Given the description of an element on the screen output the (x, y) to click on. 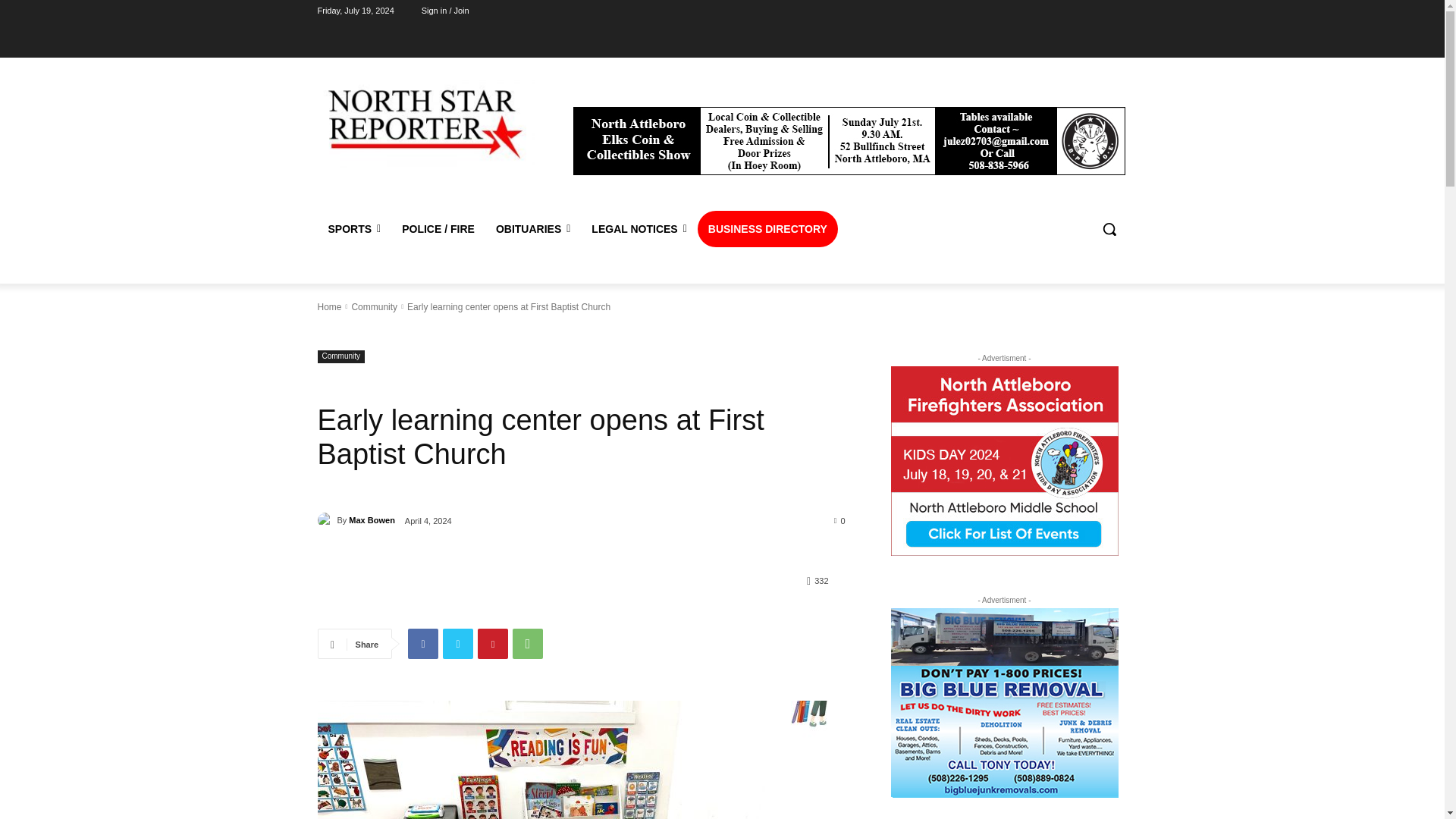
SPORTS (354, 228)
OBITUARIES (532, 228)
